Given the description of an element on the screen output the (x, y) to click on. 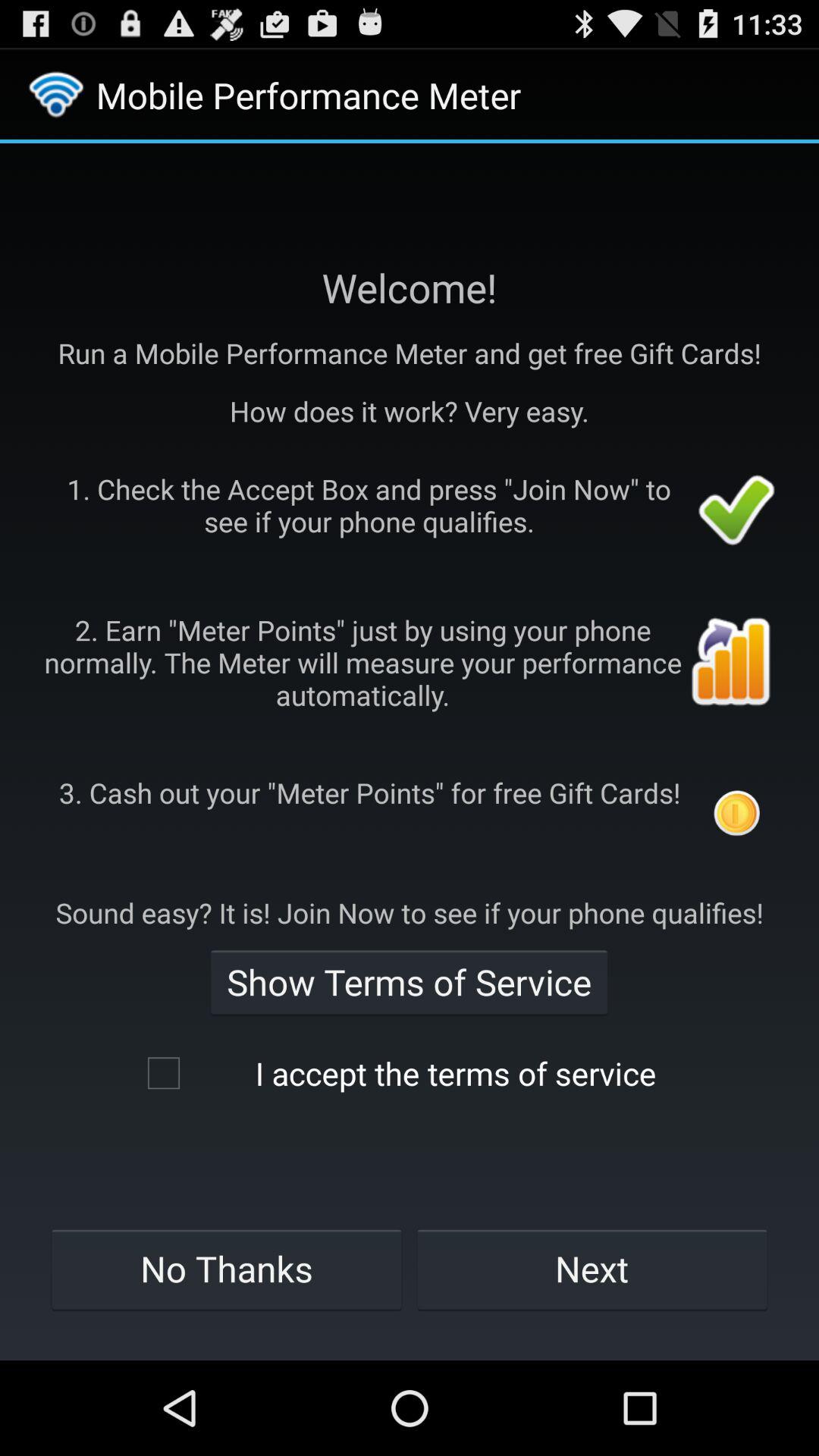
tap the no thanks (226, 1268)
